Given the description of an element on the screen output the (x, y) to click on. 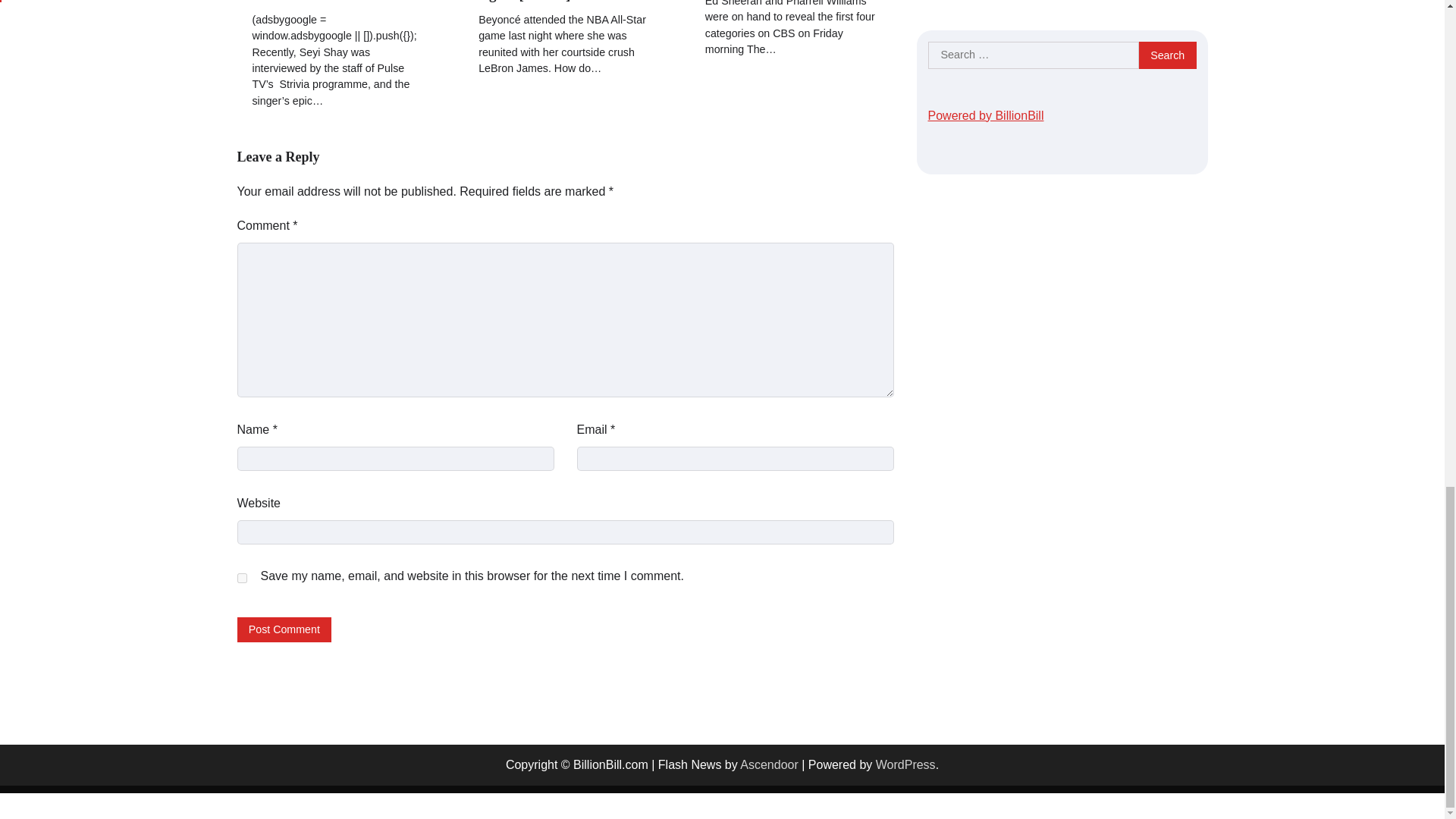
Post Comment (283, 629)
Post Comment (283, 629)
Ascendoor (768, 764)
WordPress (906, 764)
yes (240, 578)
